Given the description of an element on the screen output the (x, y) to click on. 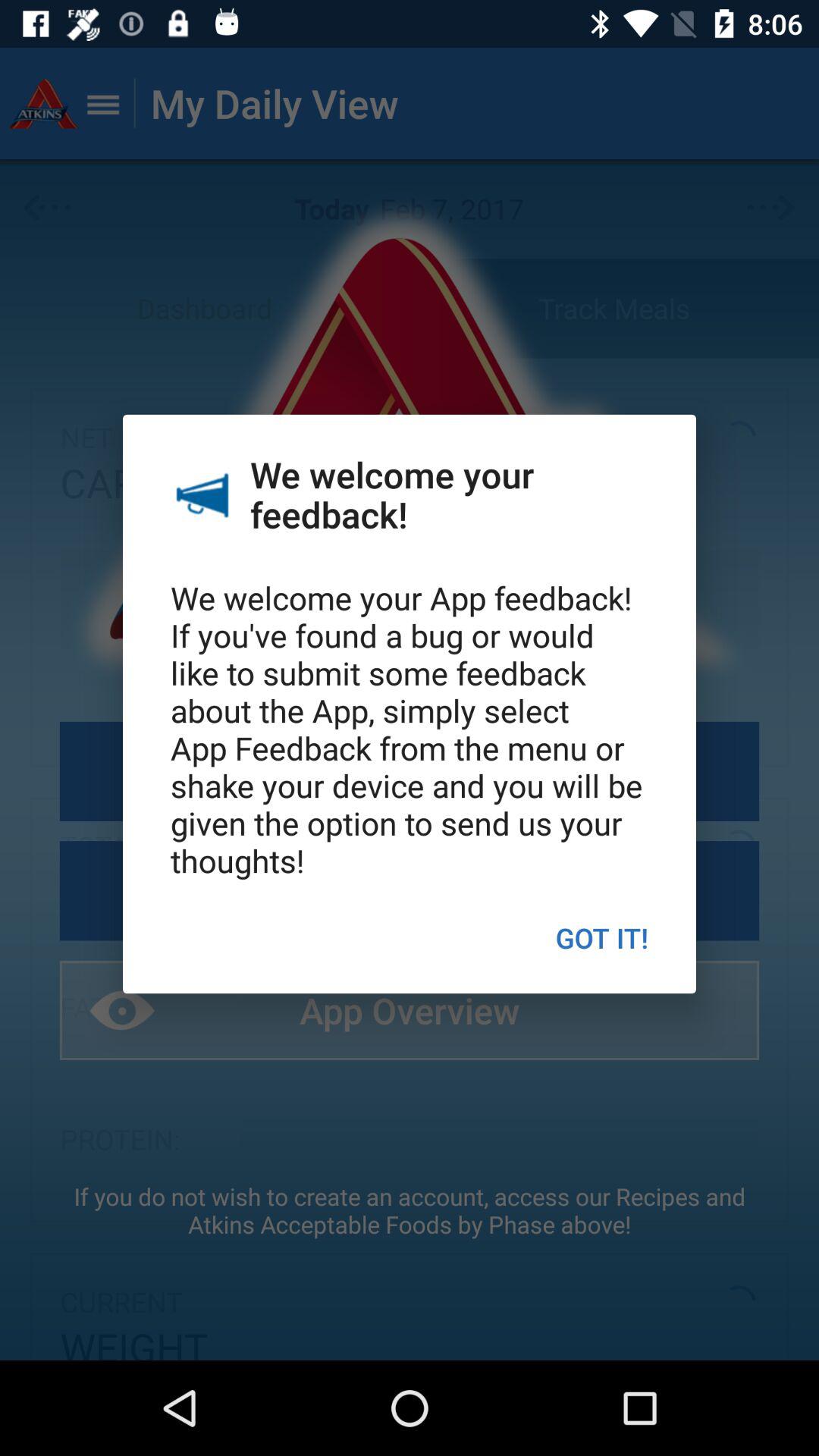
swipe until the got it! icon (601, 937)
